Given the description of an element on the screen output the (x, y) to click on. 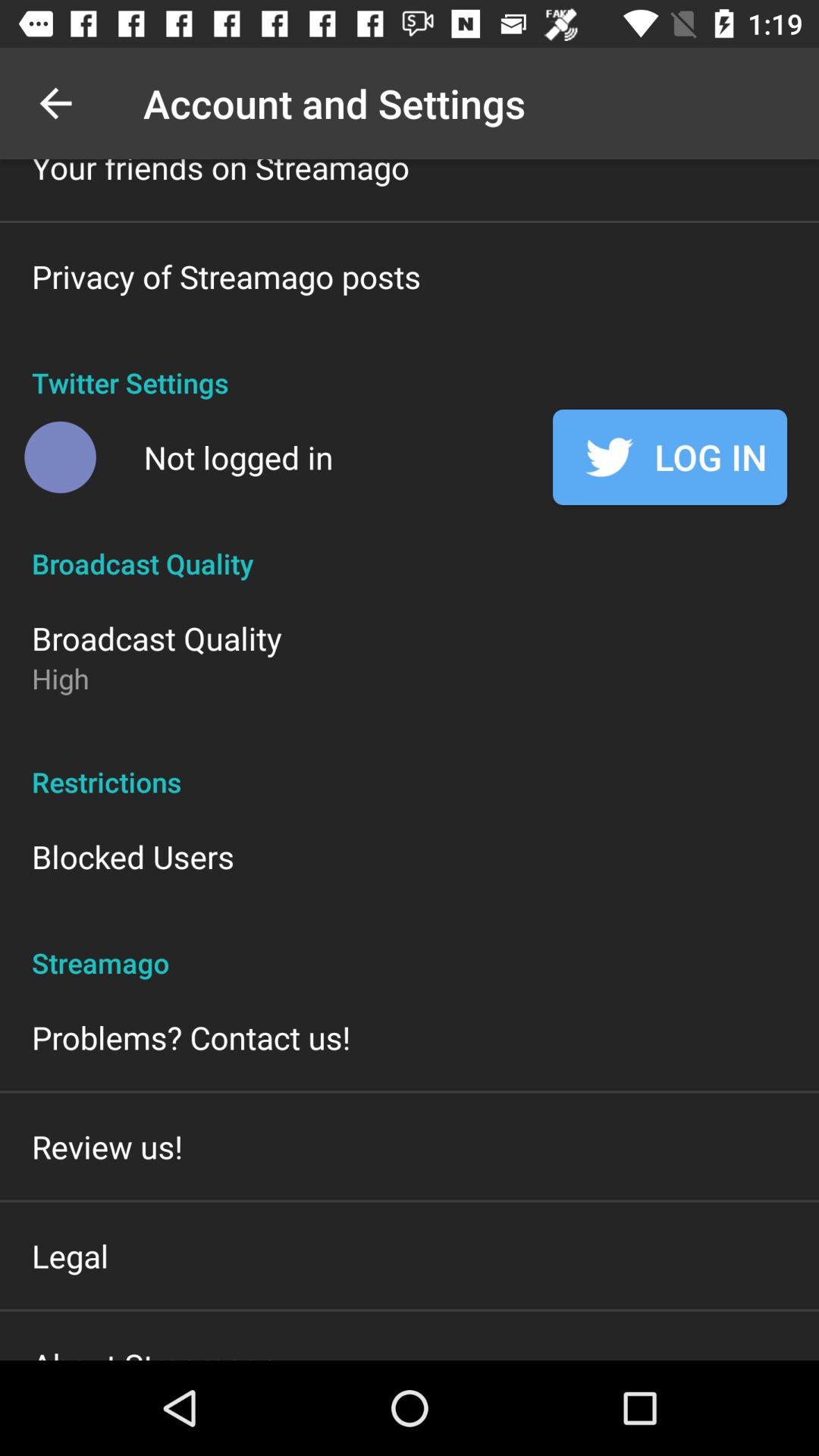
swipe until twitter settings (409, 366)
